Given the description of an element on the screen output the (x, y) to click on. 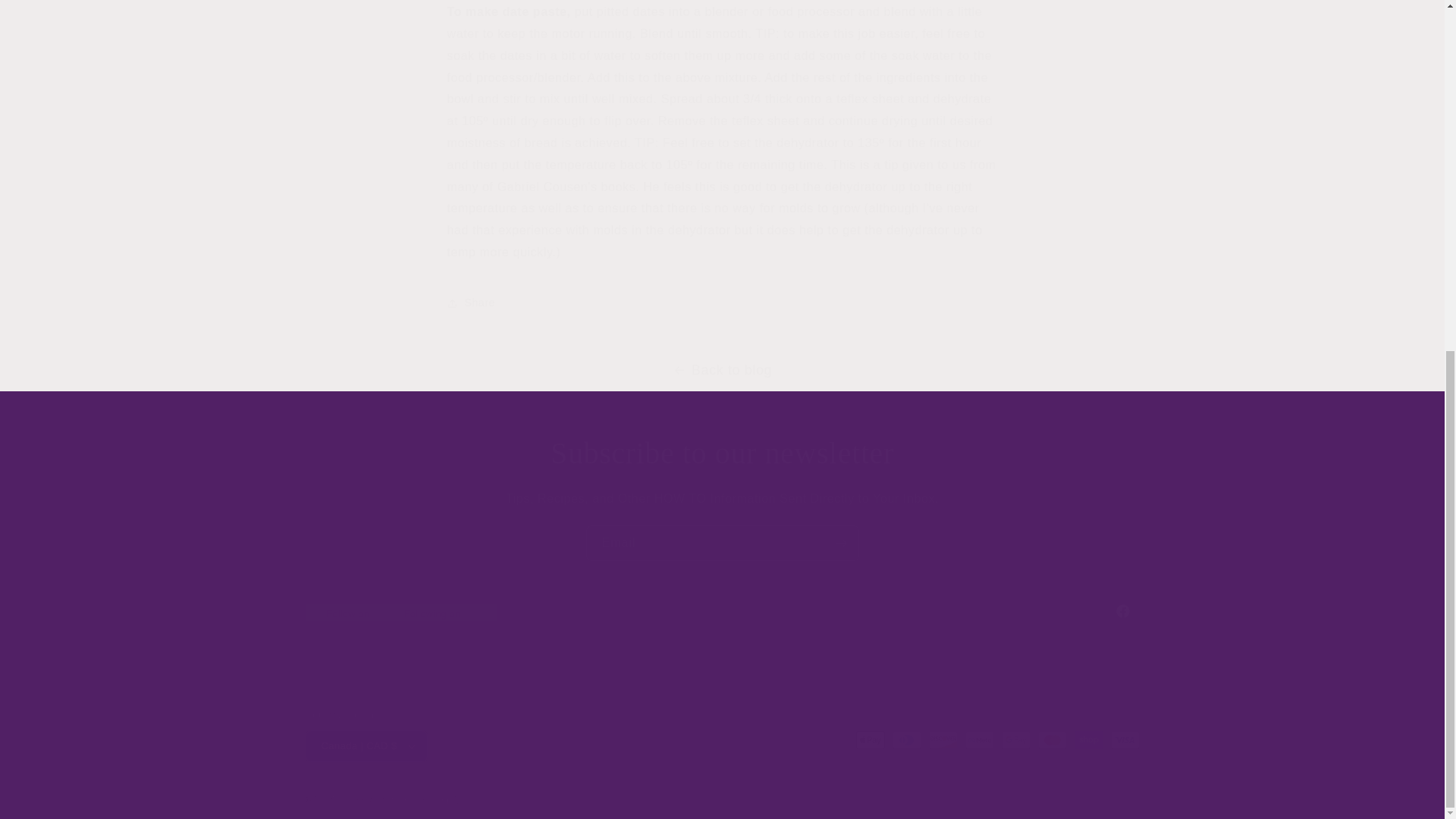
Subscribe to our newsletter (721, 453)
Email (722, 543)
Share (721, 303)
Facebook (721, 611)
